Given the description of an element on the screen output the (x, y) to click on. 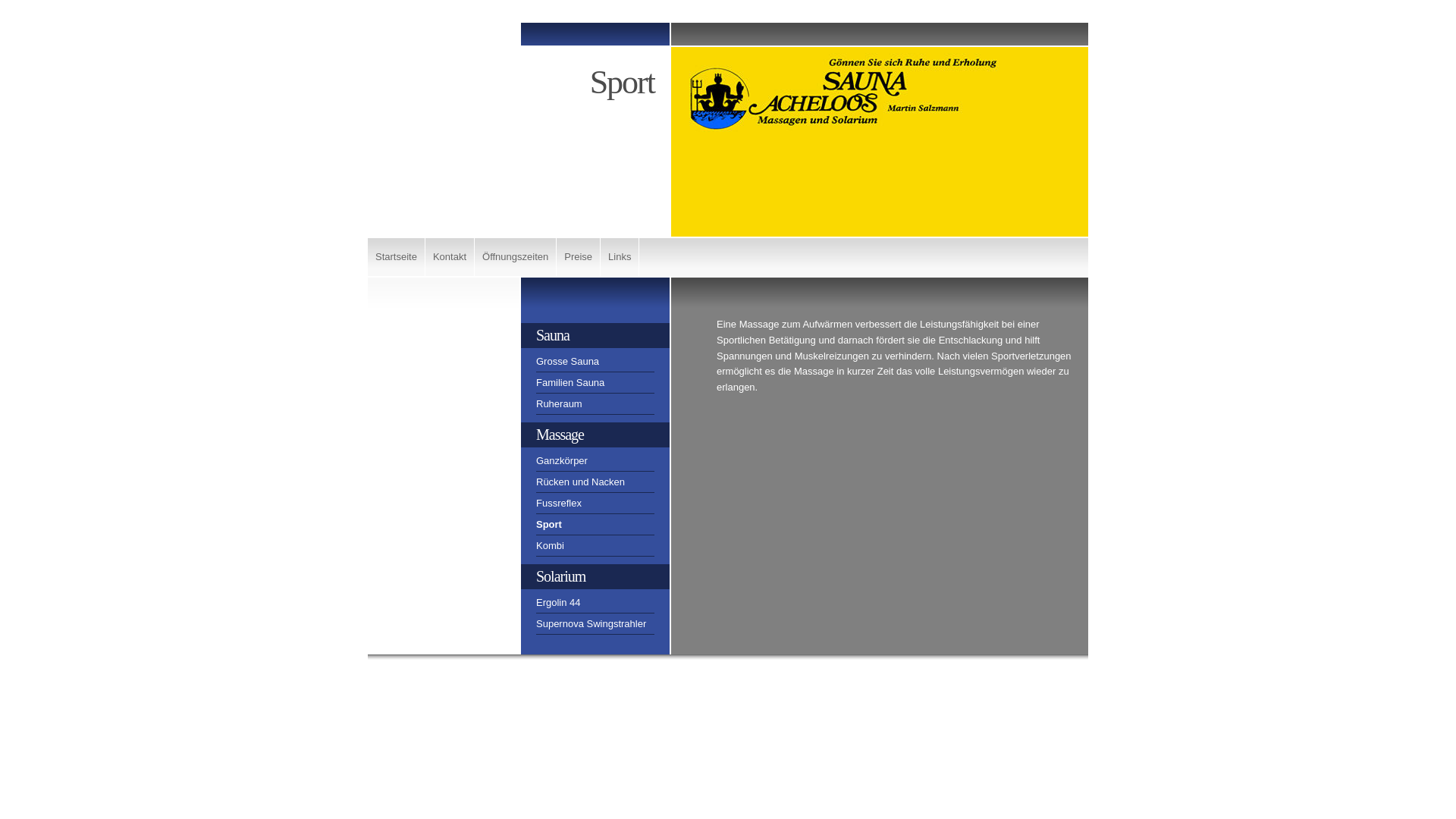
Fussreflex Element type: text (595, 505)
Solarium Element type: text (594, 576)
Kontakt Element type: text (449, 257)
Preise Element type: text (578, 257)
Grosse Sauna Element type: text (595, 363)
Links Element type: text (619, 257)
Ruheraum Element type: text (595, 406)
Sauna Element type: text (594, 335)
Massage Element type: text (594, 434)
Familien Sauna Element type: text (595, 384)
Kombi Element type: text (595, 547)
Supernova Swingstrahler Element type: text (595, 626)
Startseite Element type: text (396, 257)
Sport Element type: text (595, 526)
Ergolin 44 Element type: text (595, 604)
